Given the description of an element on the screen output the (x, y) to click on. 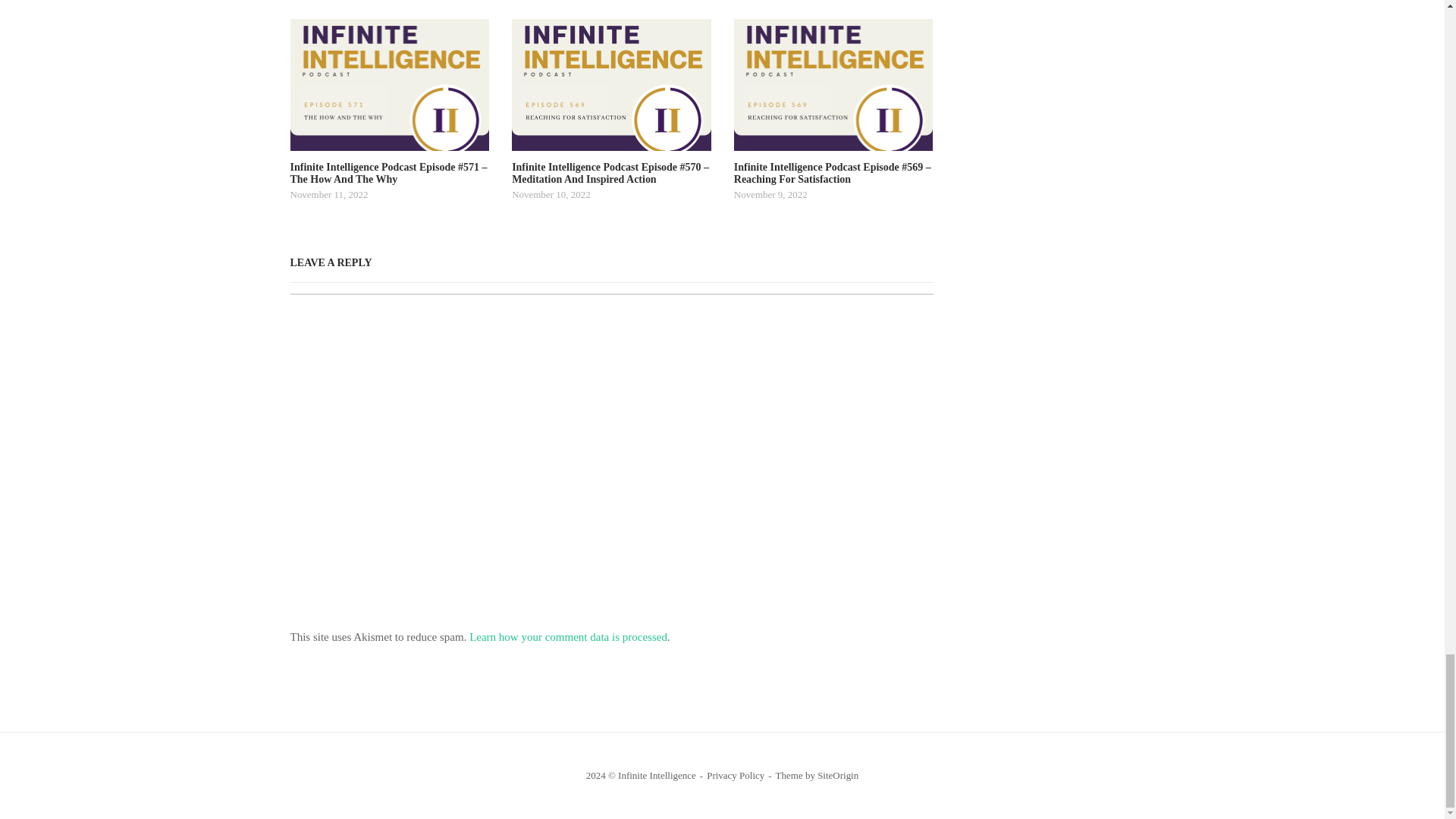
SiteOrigin (837, 775)
Learn how your comment data is processed (567, 636)
Privacy Policy (735, 775)
